Given the description of an element on the screen output the (x, y) to click on. 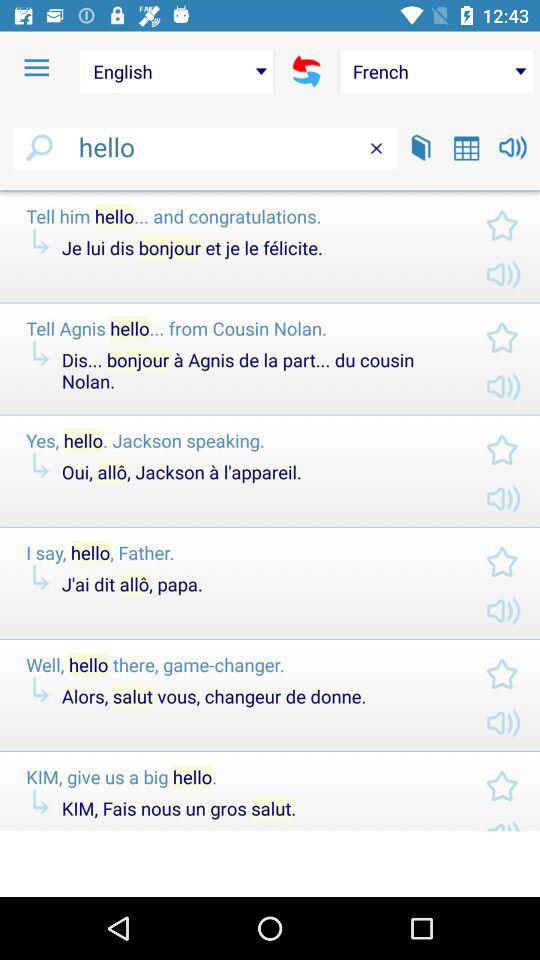
click the icon next to english item (36, 68)
